Given the description of an element on the screen output the (x, y) to click on. 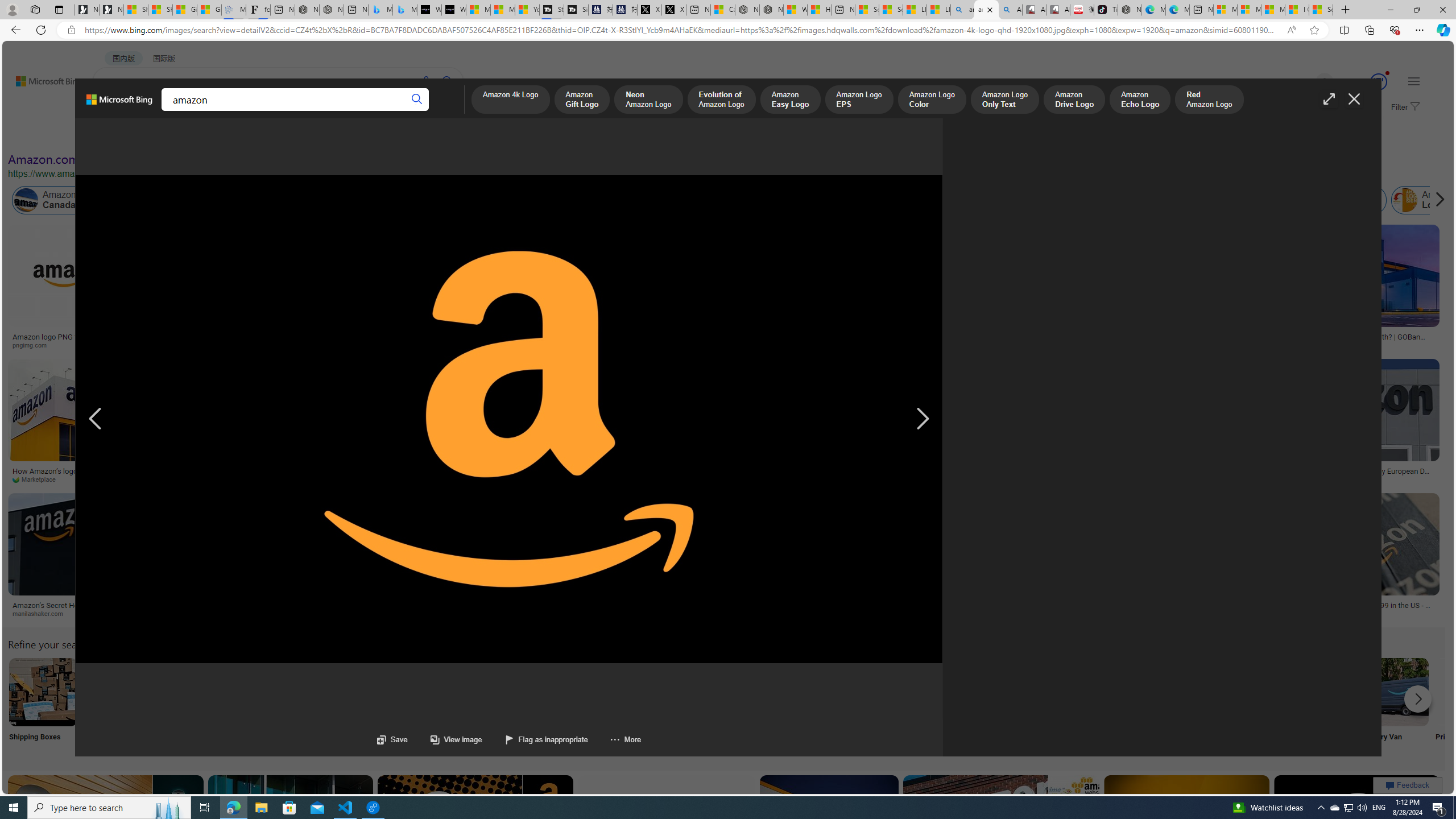
Amazon India (483, 200)
mytotalretail.com (207, 344)
License (377, 135)
Amazon Shipping Boxes (42, 691)
Amazon (399, 605)
manilashaker.com (42, 612)
Date (336, 135)
Amazon Retail Store Retail Store (493, 706)
The Verge (1015, 479)
amazon.com.mx (1108, 612)
